Given the description of an element on the screen output the (x, y) to click on. 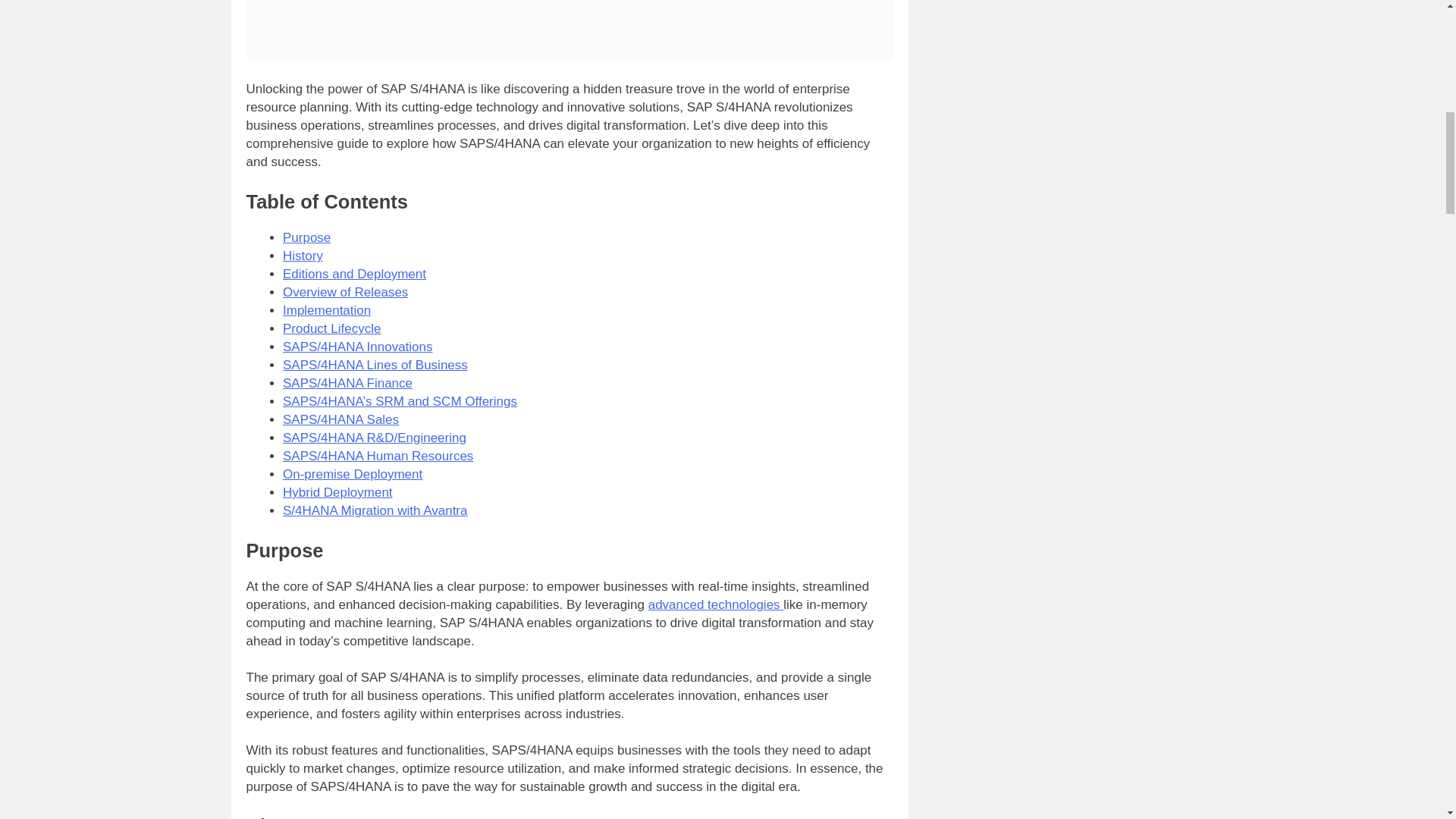
History (302, 255)
Product Lifecycle (331, 328)
Purpose (306, 237)
Editions and Deployment (354, 273)
Overview of Releases (344, 292)
Implementation (326, 310)
